Given the description of an element on the screen output the (x, y) to click on. 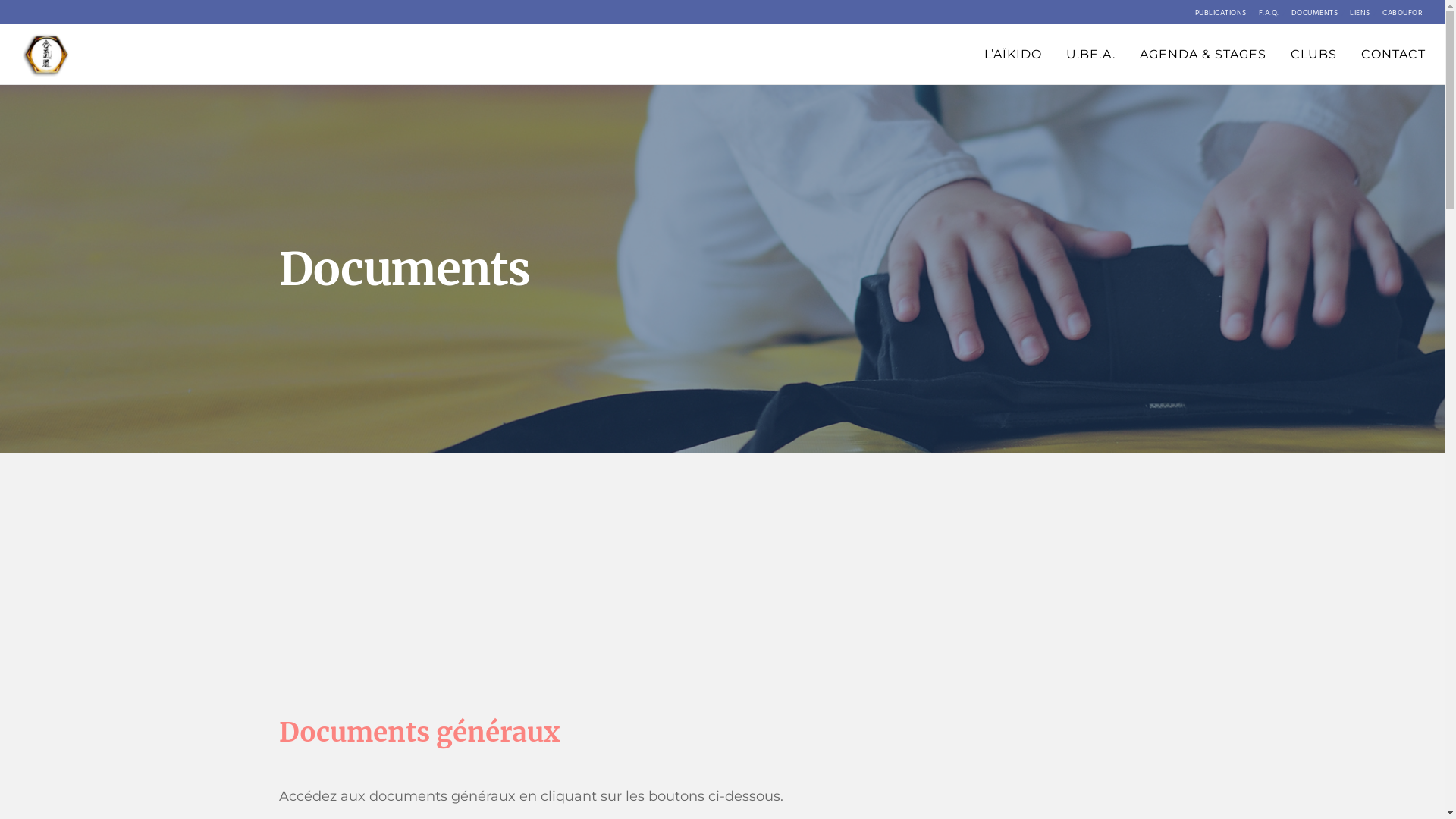
CABOUFOR Element type: text (1401, 12)
CLUBS Element type: text (1301, 54)
PUBLICATIONS Element type: text (1220, 12)
AGENDA & STAGES Element type: text (1190, 54)
LIENS Element type: text (1359, 12)
DOCUMENTS Element type: text (1314, 12)
U.BE.A. Element type: text (1078, 54)
F.A.Q. Element type: text (1268, 12)
CONTACT Element type: text (1380, 54)
